Given the description of an element on the screen output the (x, y) to click on. 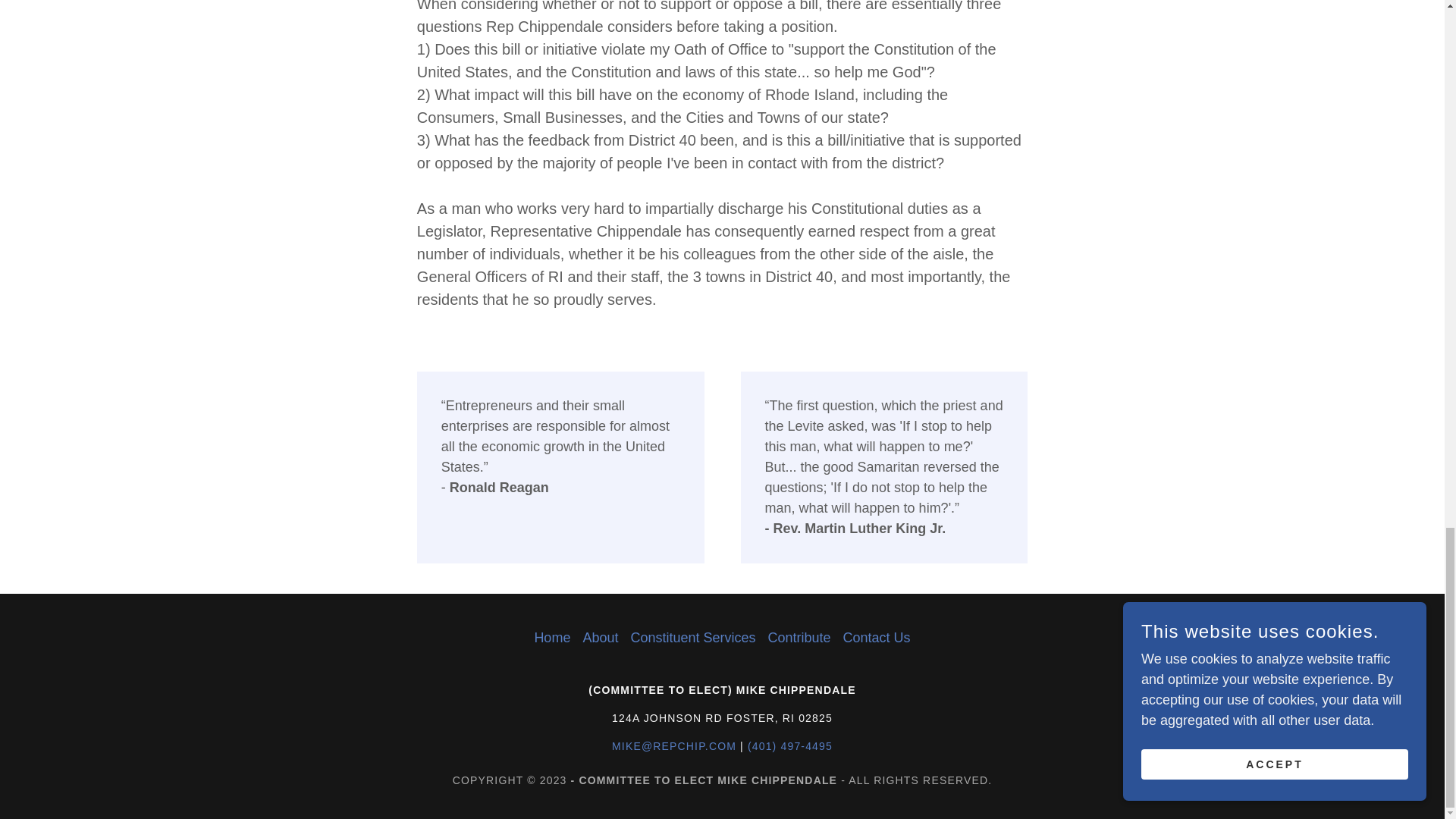
Contact Us (877, 637)
Constituent Services (692, 637)
About (600, 637)
Home (551, 637)
Contribute (799, 637)
